Given the description of an element on the screen output the (x, y) to click on. 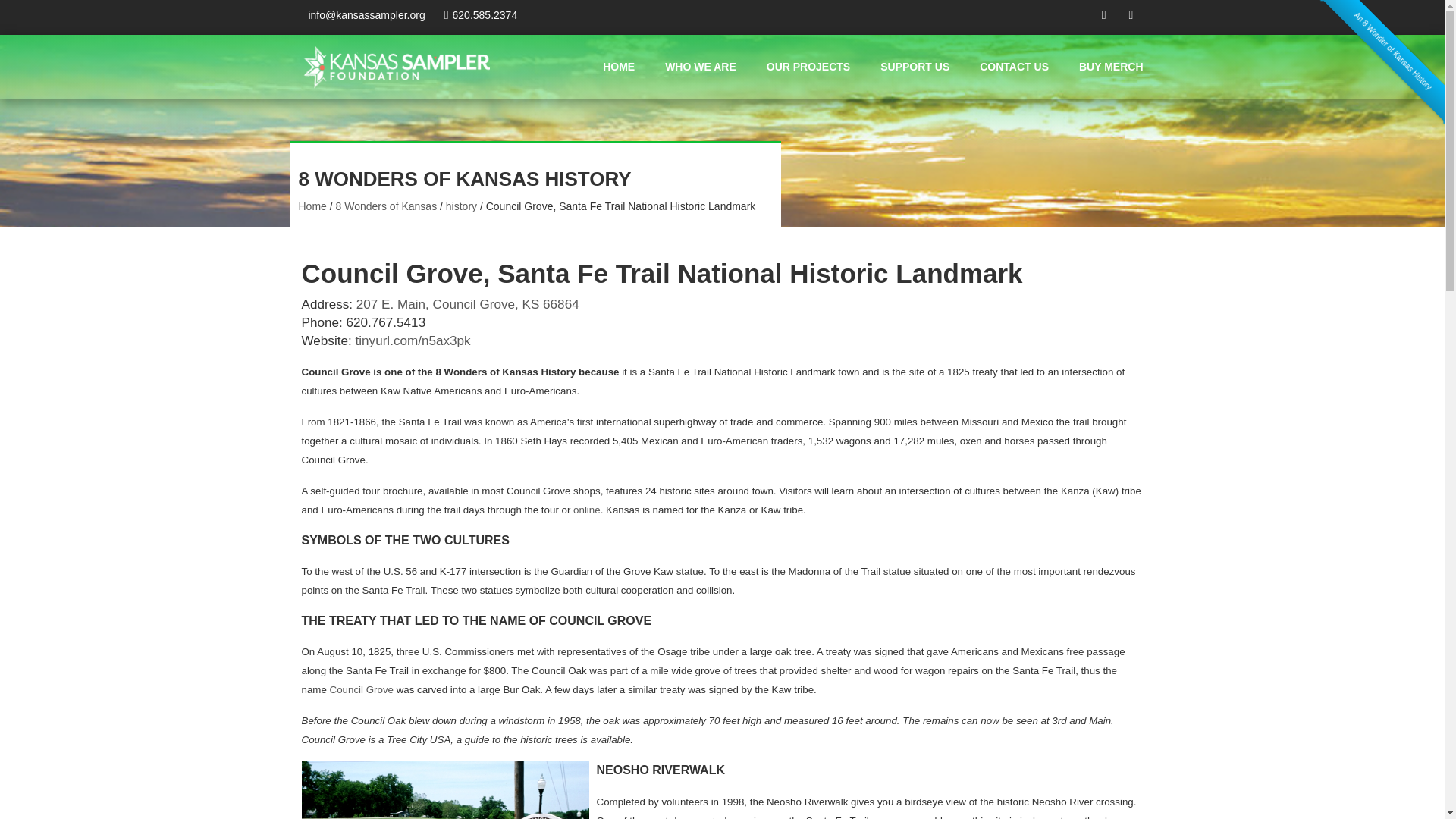
620.585.2374 (480, 15)
OUR PROJECTS (808, 66)
WHO WE ARE (700, 66)
SUPPORT US (914, 66)
HOME (618, 66)
